Given the description of an element on the screen output the (x, y) to click on. 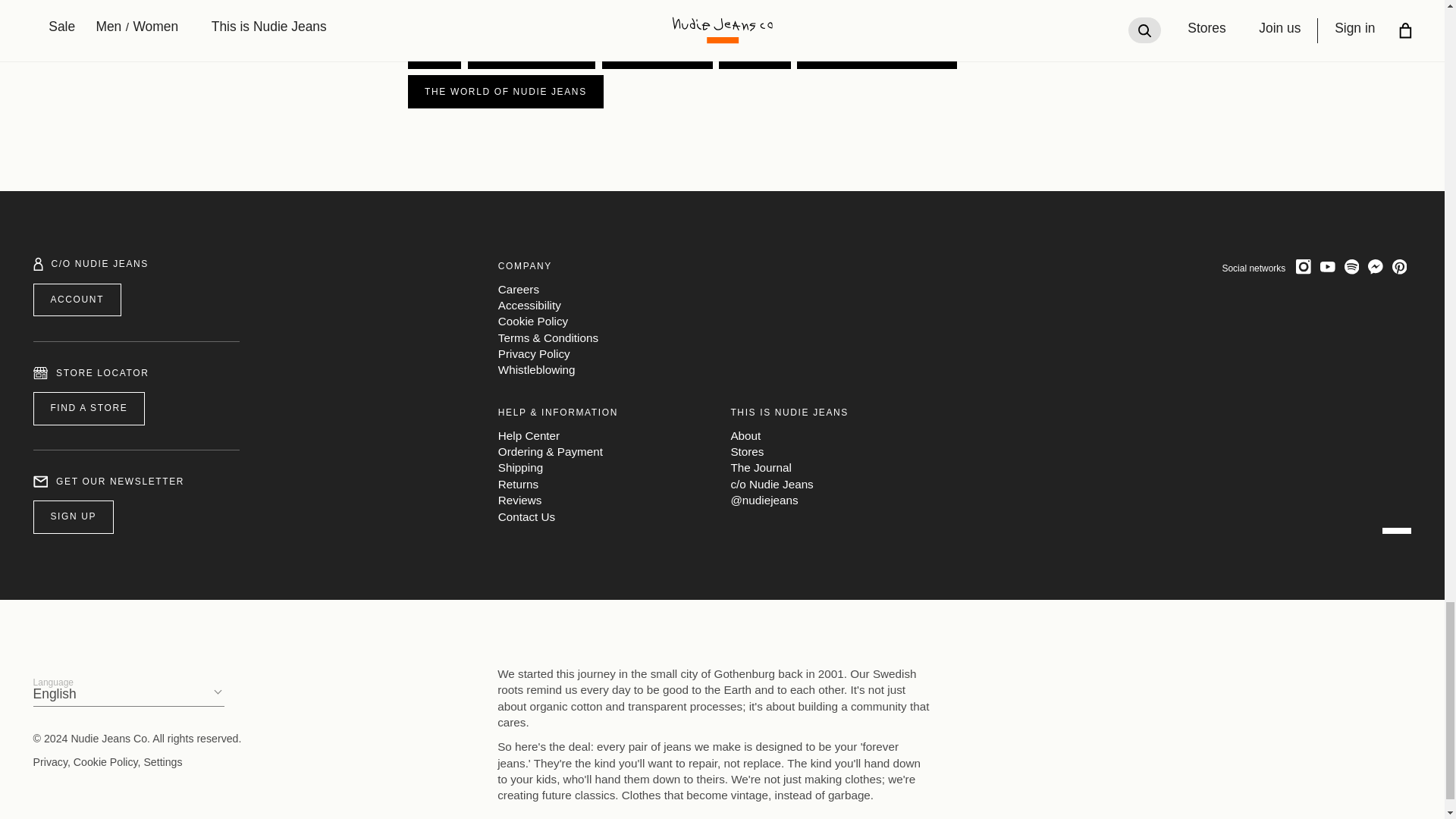
Spotify (1351, 266)
Facebook (1374, 266)
Instagram (1303, 266)
Youtube (1327, 266)
Pinterest (1399, 266)
